Given the description of an element on the screen output the (x, y) to click on. 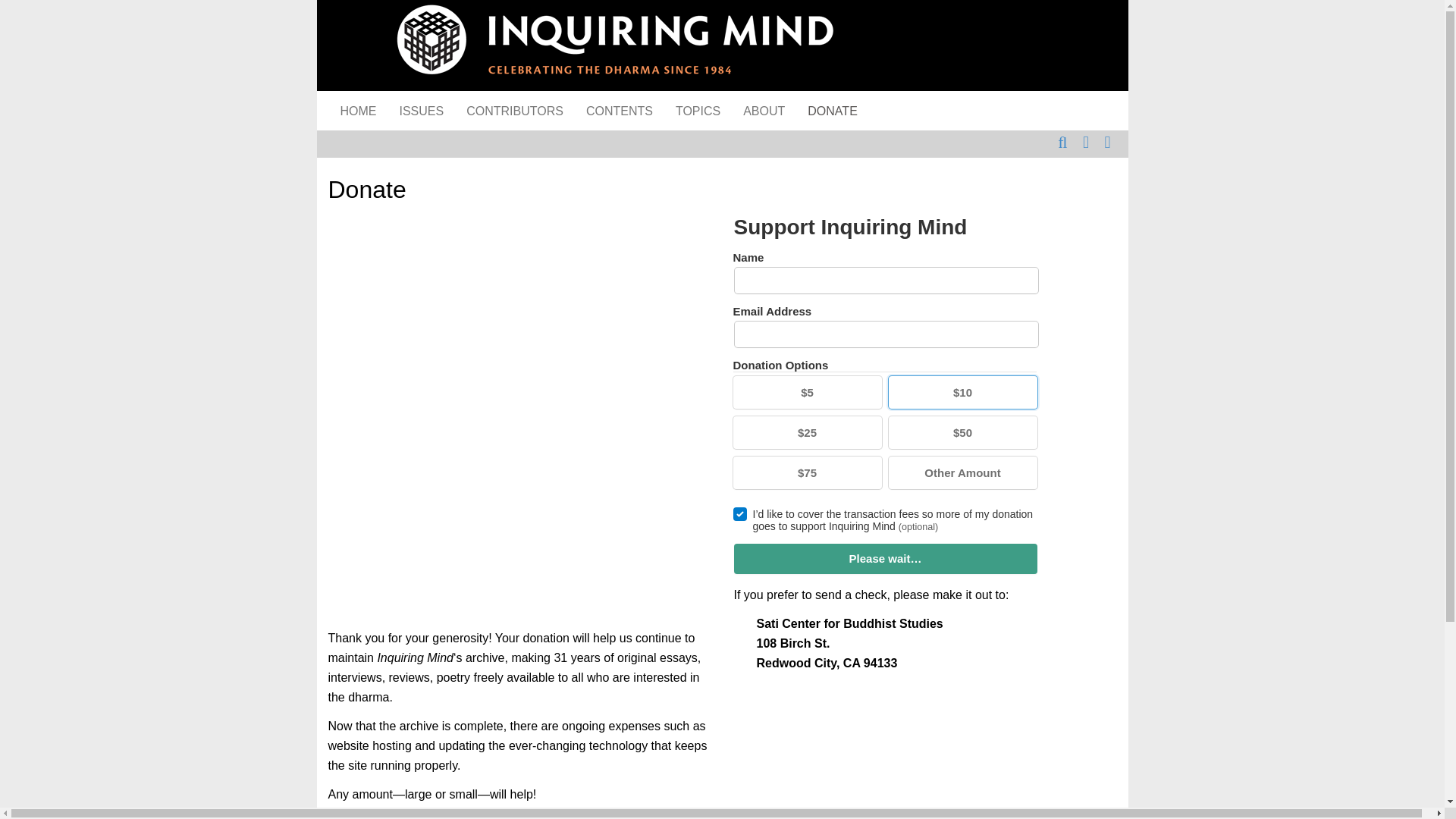
HOME (358, 110)
TOPICS (697, 110)
CONTRIBUTORS (514, 110)
DONATE (831, 110)
ISSUES (421, 110)
on (739, 513)
ABOUT (764, 110)
CONTENTS (619, 110)
